Given the description of an element on the screen output the (x, y) to click on. 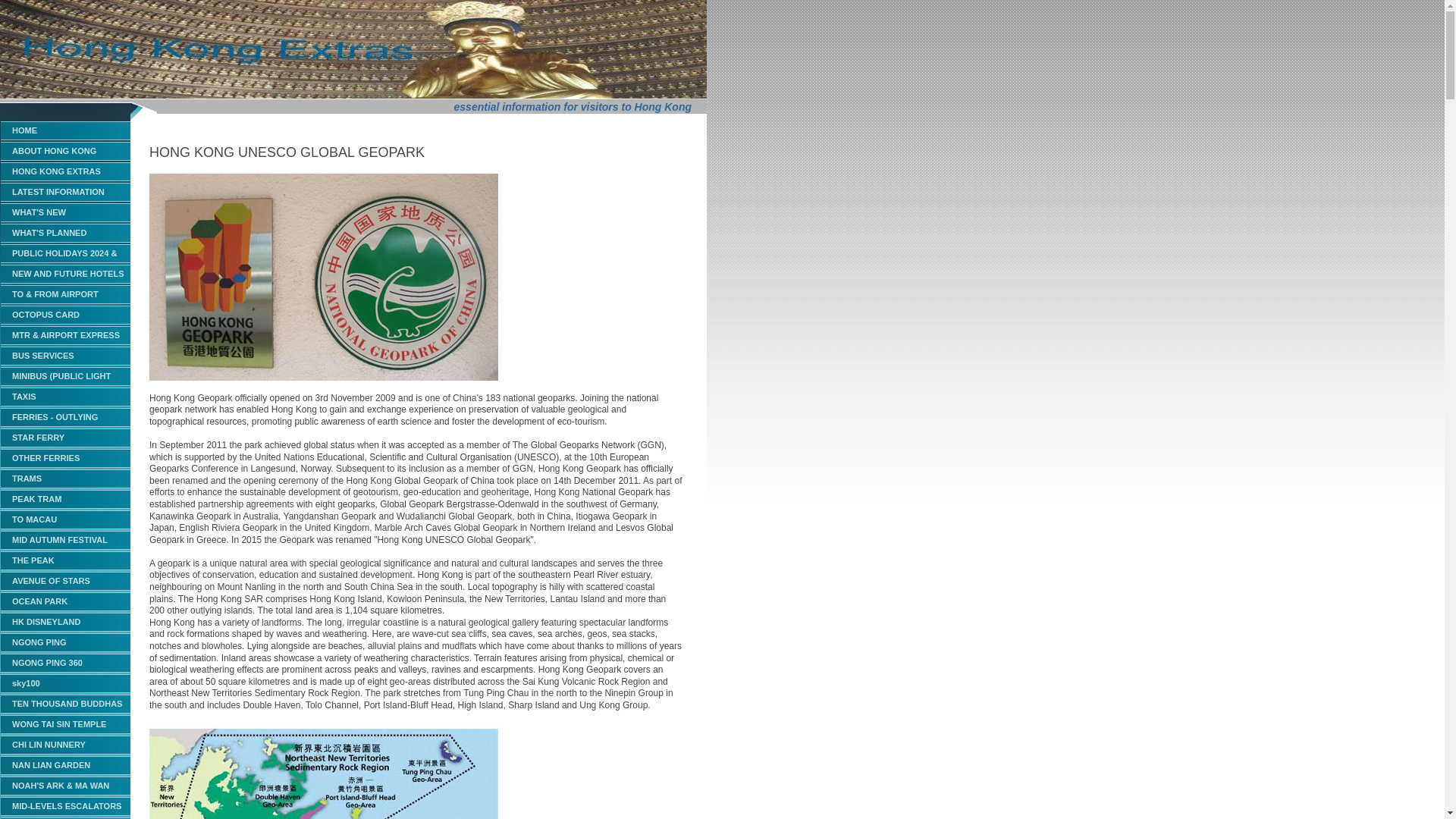
LATEST INFORMATION (66, 191)
THE PEAK (66, 560)
WHAT'S NEW (66, 212)
NEW AND FUTURE HOTELS (66, 273)
STAR FERRY (66, 437)
PEAK TRAM (66, 498)
MID-LEVELS ESCALATORS (66, 805)
NGONG PING 360 (66, 662)
STANLEY (66, 818)
WONG TAI SIN TEMPLE (66, 723)
